Given the description of an element on the screen output the (x, y) to click on. 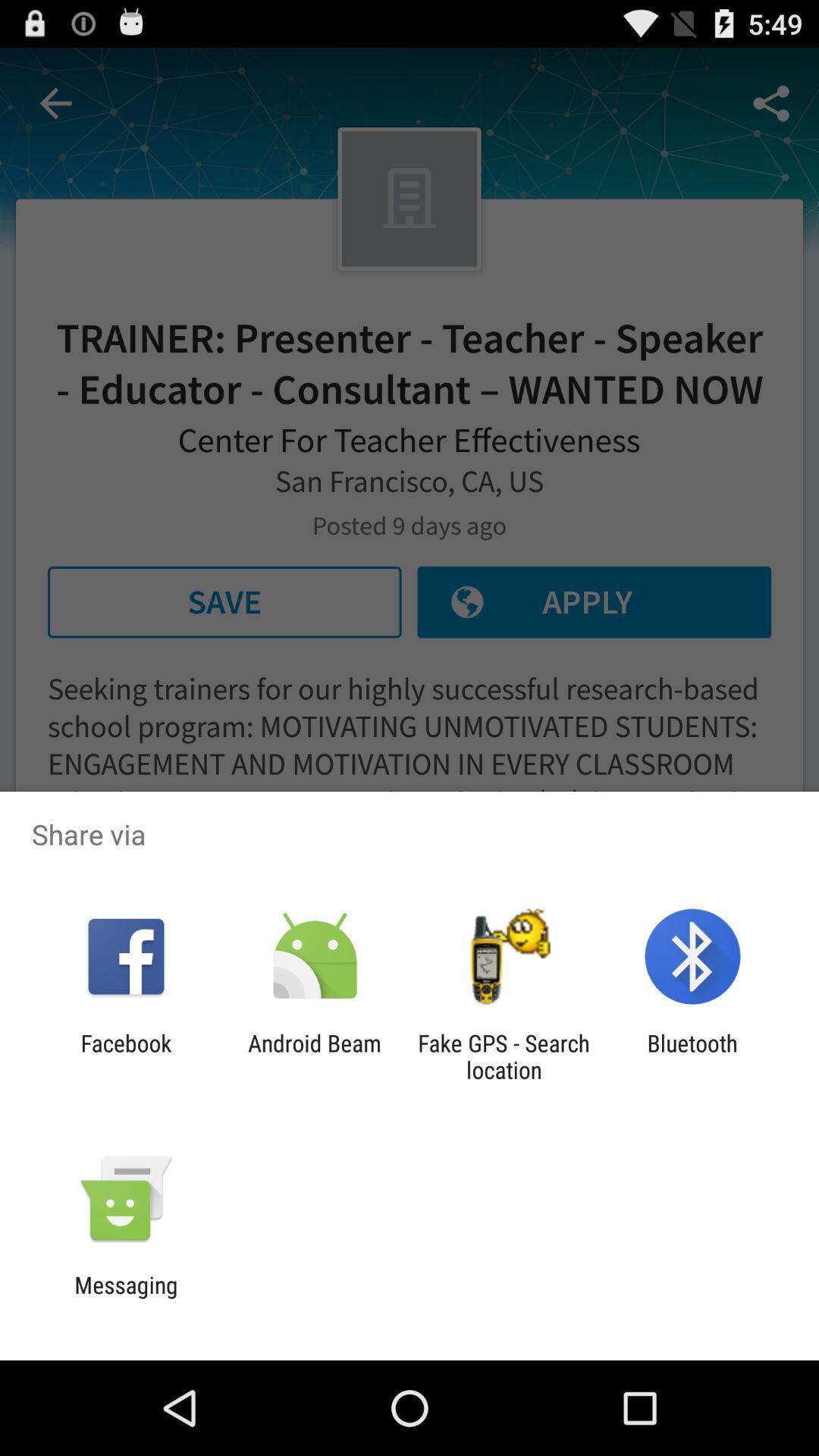
click the messaging app (126, 1298)
